Given the description of an element on the screen output the (x, y) to click on. 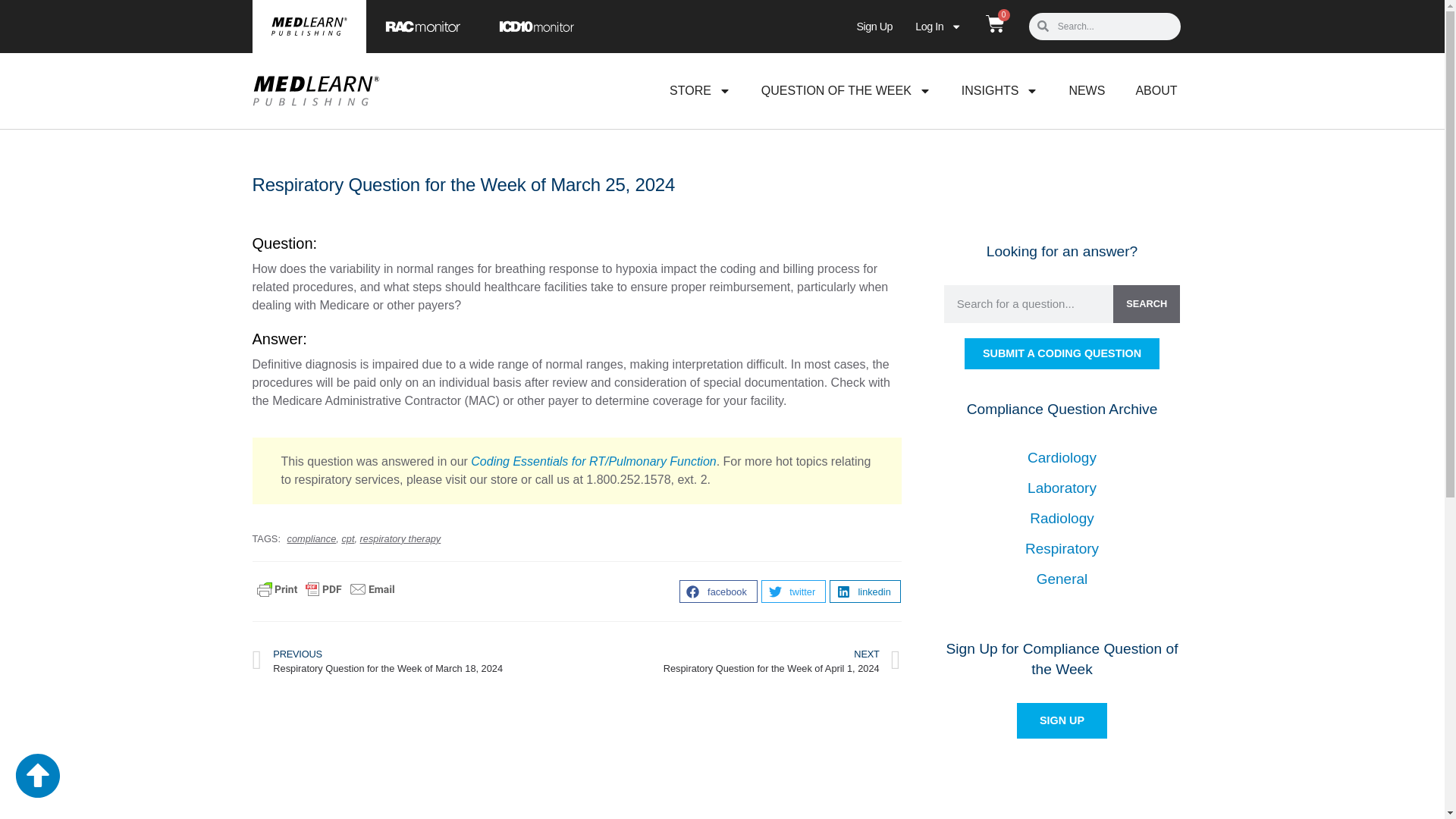
STORE (699, 90)
ABOUT (1155, 90)
0 (994, 25)
QUESTION OF THE WEEK (845, 90)
Sign Up (874, 26)
3rd party ad content (575, 749)
NEWS (1085, 90)
INSIGHTS (1000, 90)
Log In (938, 26)
